Given the description of an element on the screen output the (x, y) to click on. 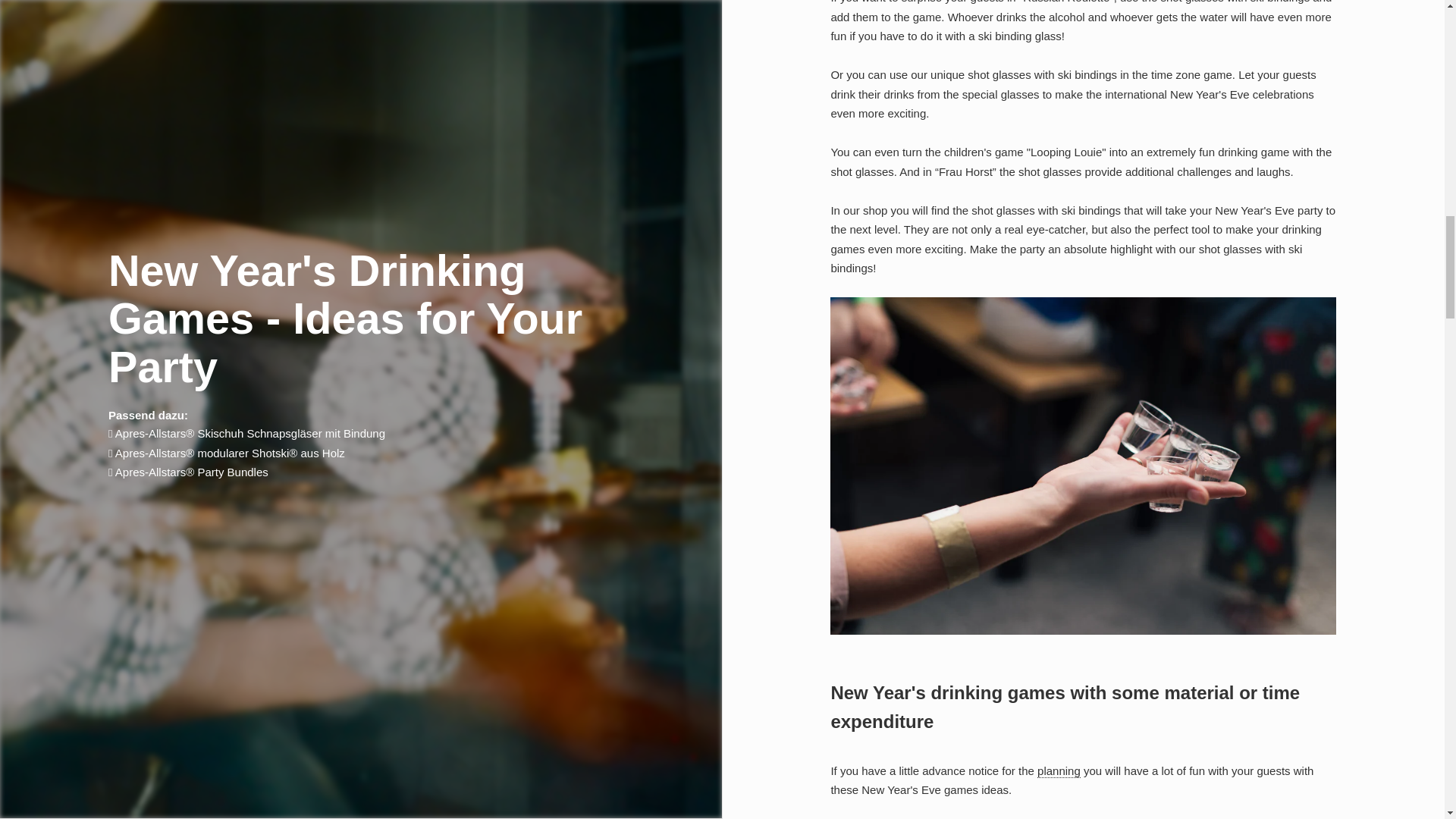
Geburtstags Partyspiele (1058, 771)
